Given the description of an element on the screen output the (x, y) to click on. 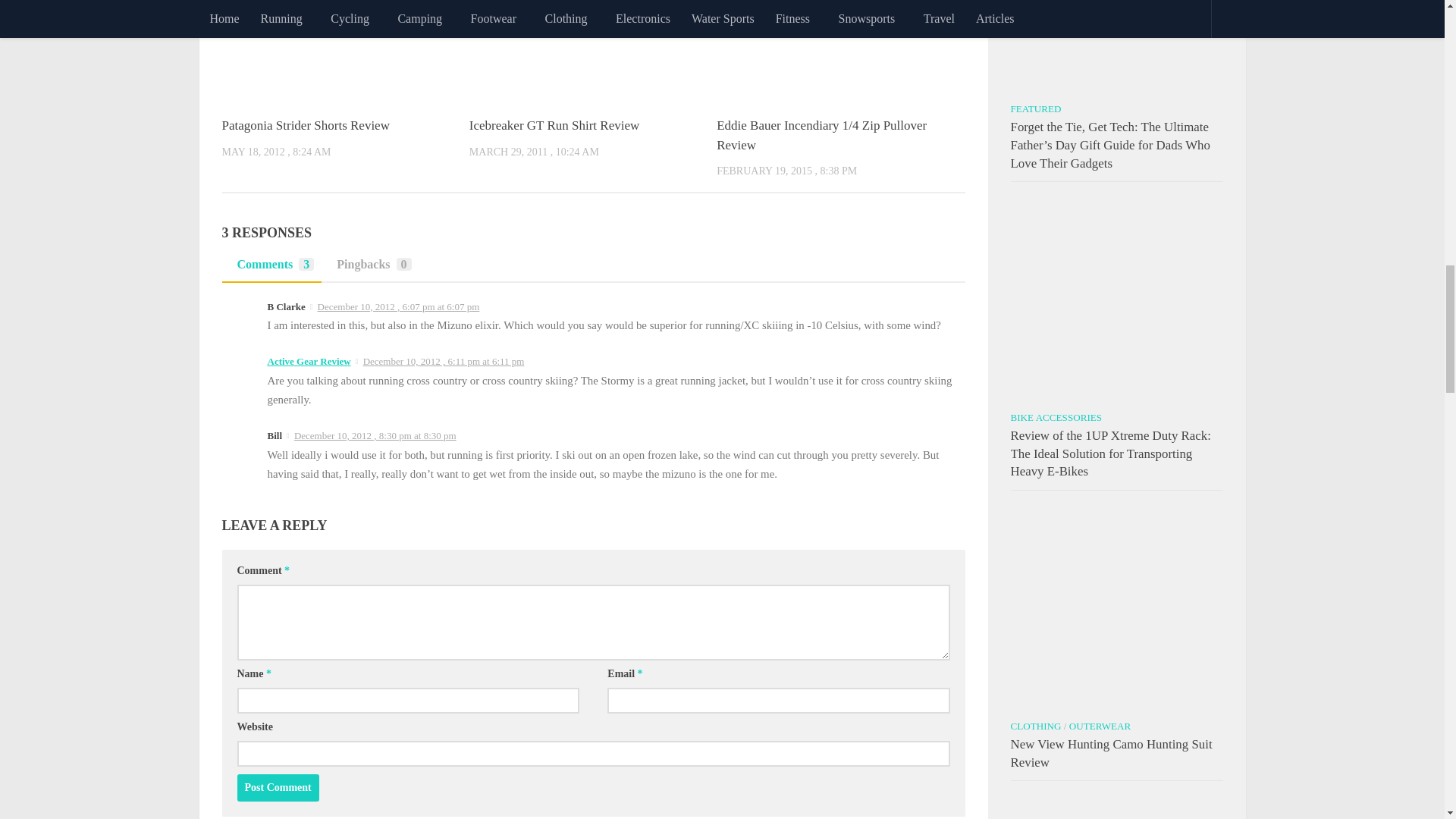
Post Comment (276, 787)
